Given the description of an element on the screen output the (x, y) to click on. 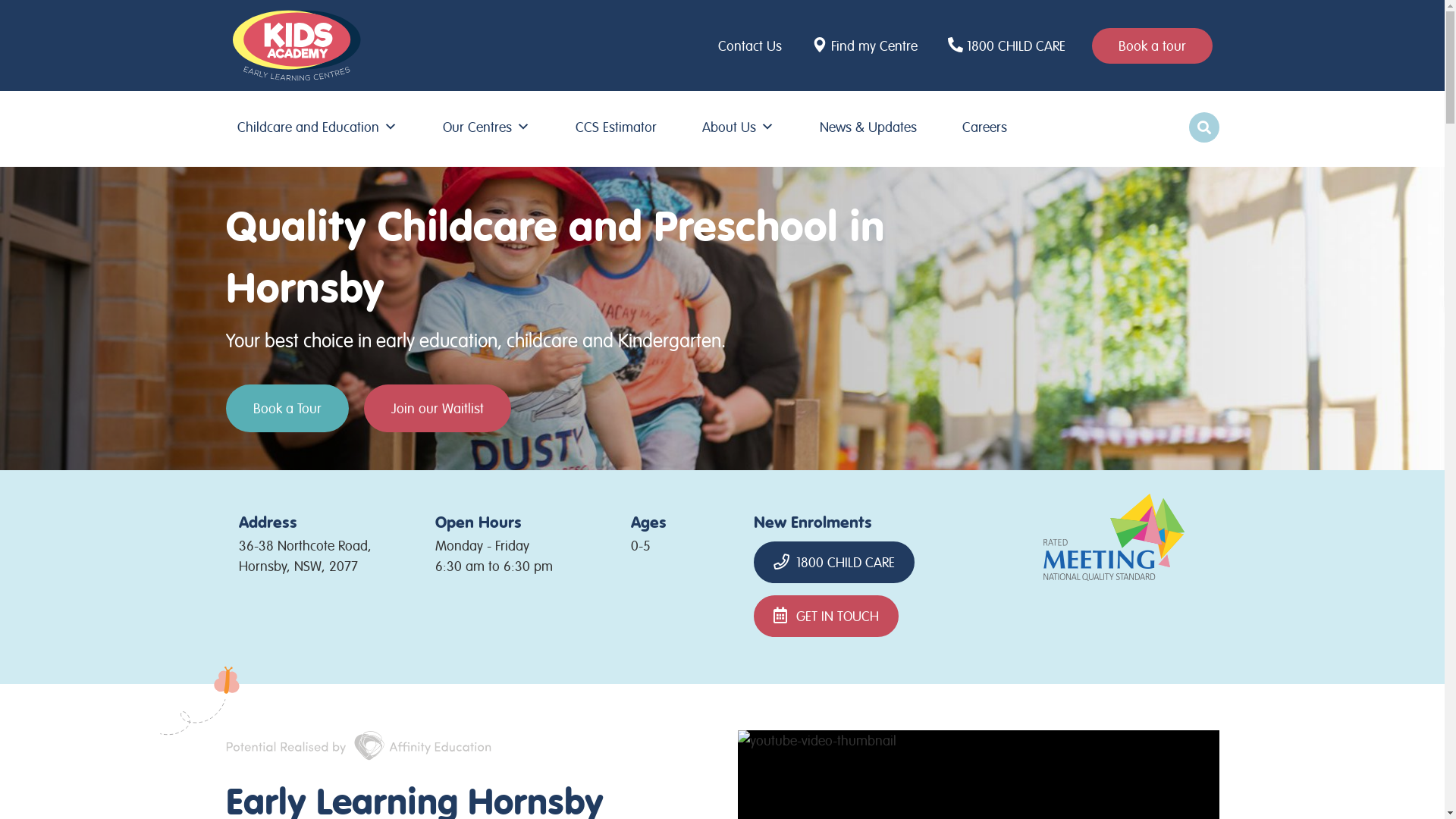
Search Element type: text (15, 17)
Childcare and Education Element type: text (316, 127)
Our Centres Element type: text (486, 127)
1800 CHILD CARE Element type: text (1008, 44)
About Us Element type: text (737, 127)
GET IN TOUCH Element type: text (825, 616)
Book a Tour Element type: text (286, 408)
1800 CHILD CARE Element type: text (833, 562)
CCS Estimator Element type: text (615, 127)
butterfly-buzz-1 Element type: hover (199, 702)
Contact Us Element type: text (753, 44)
Join our Waitlist Element type: text (437, 408)
Book a tour Element type: text (1152, 44)
Find my Centre Element type: text (866, 44)
Careers Element type: text (983, 127)
News & Updates Element type: text (867, 127)
